Given the description of an element on the screen output the (x, y) to click on. 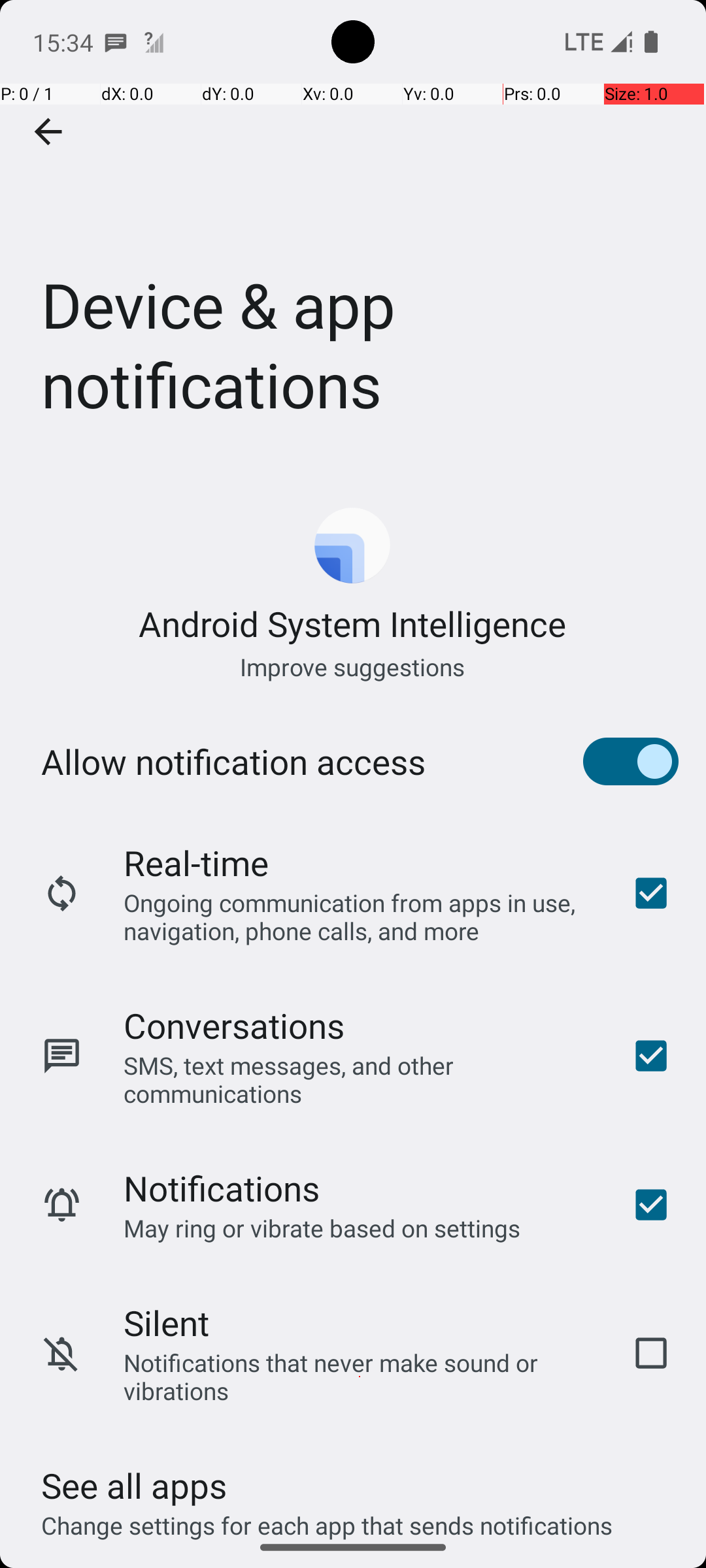
Android System Intelligence Element type: android.widget.TextView (352, 623)
Improve suggestions Element type: android.widget.TextView (352, 666)
Allow notification access Element type: android.widget.TextView (233, 761)
Real-time Element type: android.widget.TextView (195, 862)
Ongoing communication from apps in use, navigation, phone calls, and more Element type: android.widget.TextView (359, 916)
SMS, text messages, and other communications Element type: android.widget.TextView (359, 1079)
May ring or vibrate based on settings Element type: android.widget.TextView (322, 1227)
Silent Element type: android.widget.TextView (166, 1322)
Notifications that never make sound or vibrations Element type: android.widget.TextView (359, 1376)
See all apps Element type: android.widget.TextView (133, 1485)
Change settings for each app that sends notifications Element type: android.widget.TextView (326, 1517)
